Given the description of an element on the screen output the (x, y) to click on. 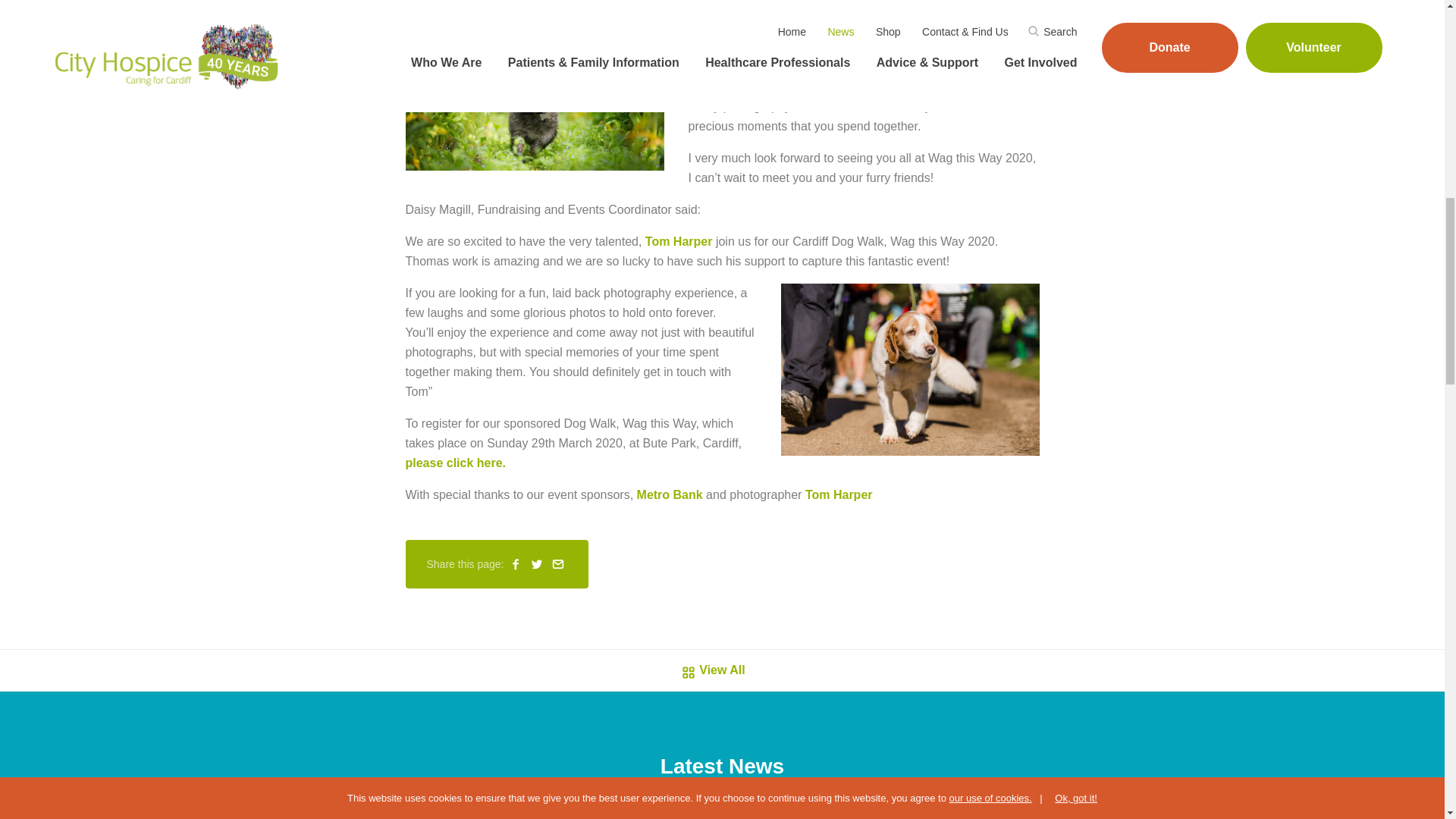
Email to a friend (557, 564)
Sparkle Walk returns to north Cardiff this autumn (1055, 815)
Share on Twitter (536, 564)
Share on Facebook (515, 564)
